Given the description of an element on the screen output the (x, y) to click on. 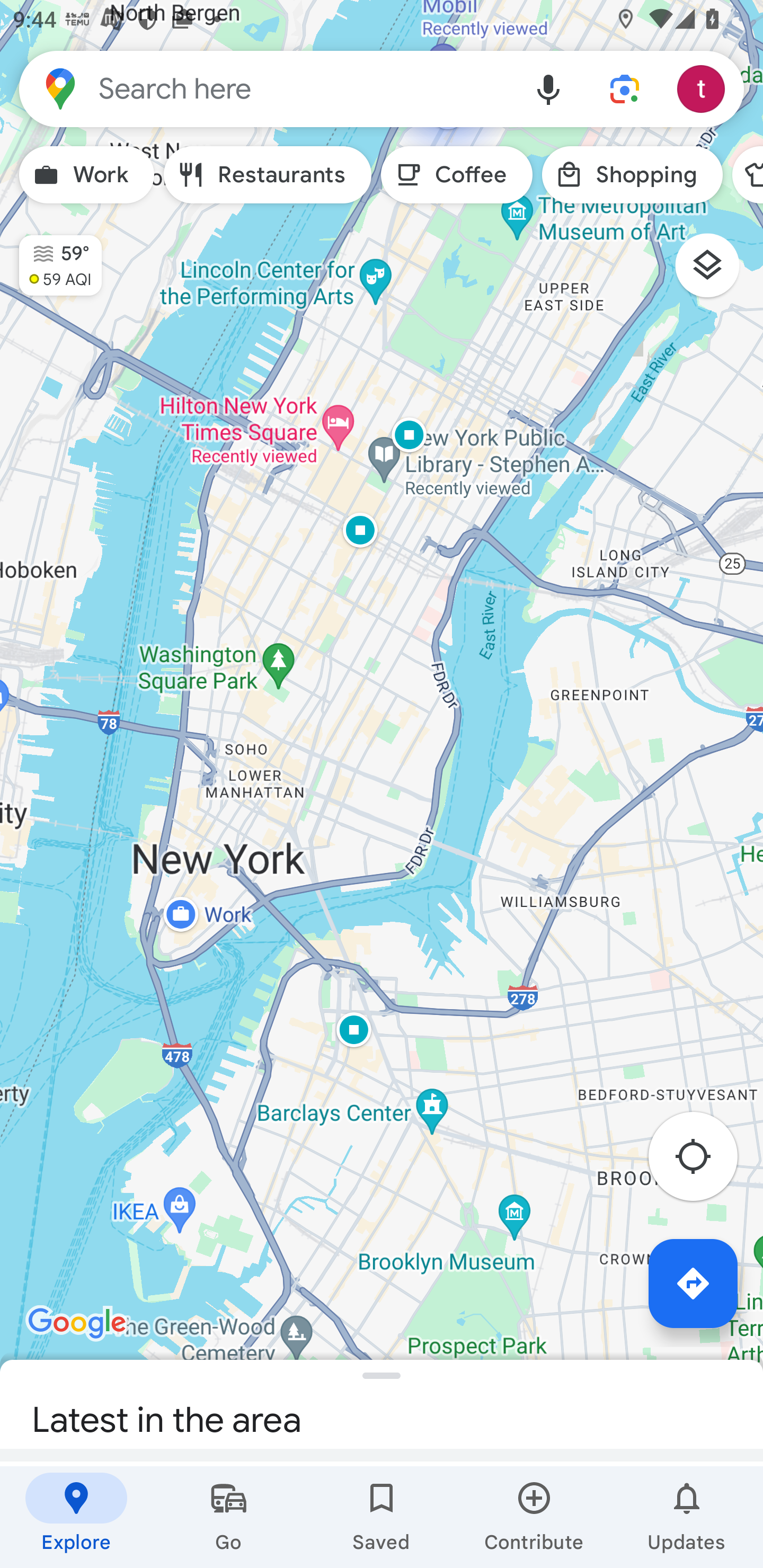
Search here (264, 88)
Voice search (548, 88)
Lens in Maps (624, 88)
Work (86, 174)
Restaurants Search for Restaurants (267, 174)
Coffee Search for Coffee (456, 174)
Shopping Search for Shopping (631, 174)
Mist, 59°, Moderate, 59 AQI 59° 59 AQI (50, 257)
Layers (716, 271)
Re-center map to your location (702, 1161)
Directions (692, 1283)
Go (228, 1517)
Saved (381, 1517)
Contribute (533, 1517)
Updates (686, 1517)
